Given the description of an element on the screen output the (x, y) to click on. 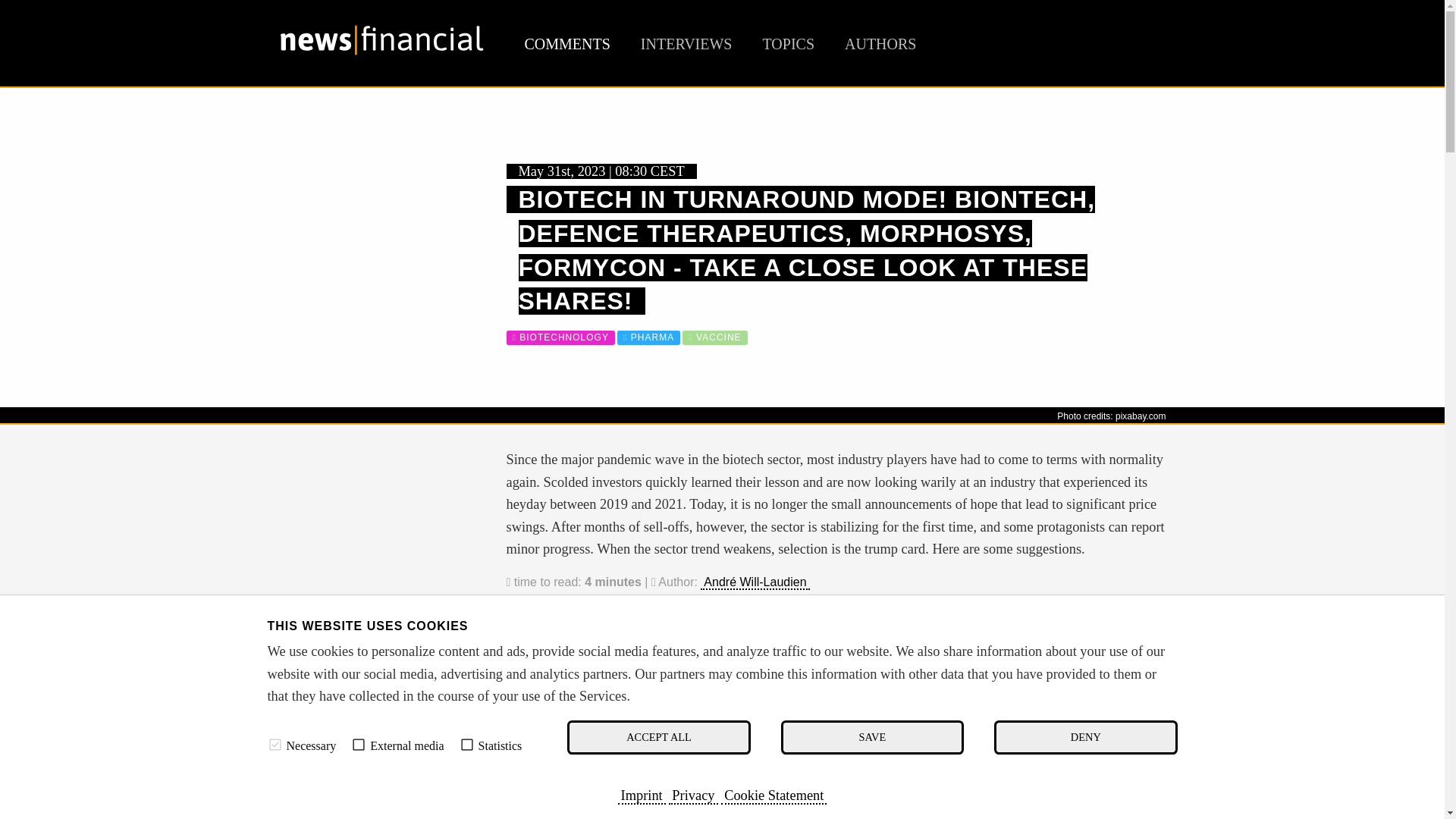
Cookie Statement (773, 795)
DEFENCE THERAPEUTICS - BREAKTHROUGH IN SOLID TUMORS (746, 738)
AUTHORS (879, 44)
MORPHOSYS AND FORMYCON - NOW IT IS GETTING REALLY EXCITING (767, 758)
BIONTECH - BACK TO NORMAL (636, 719)
TOPICS (787, 44)
INTERVIEWS (686, 44)
ACCEPT ALL (658, 737)
SAVE (871, 737)
COMMENTS (566, 44)
